Given the description of an element on the screen output the (x, y) to click on. 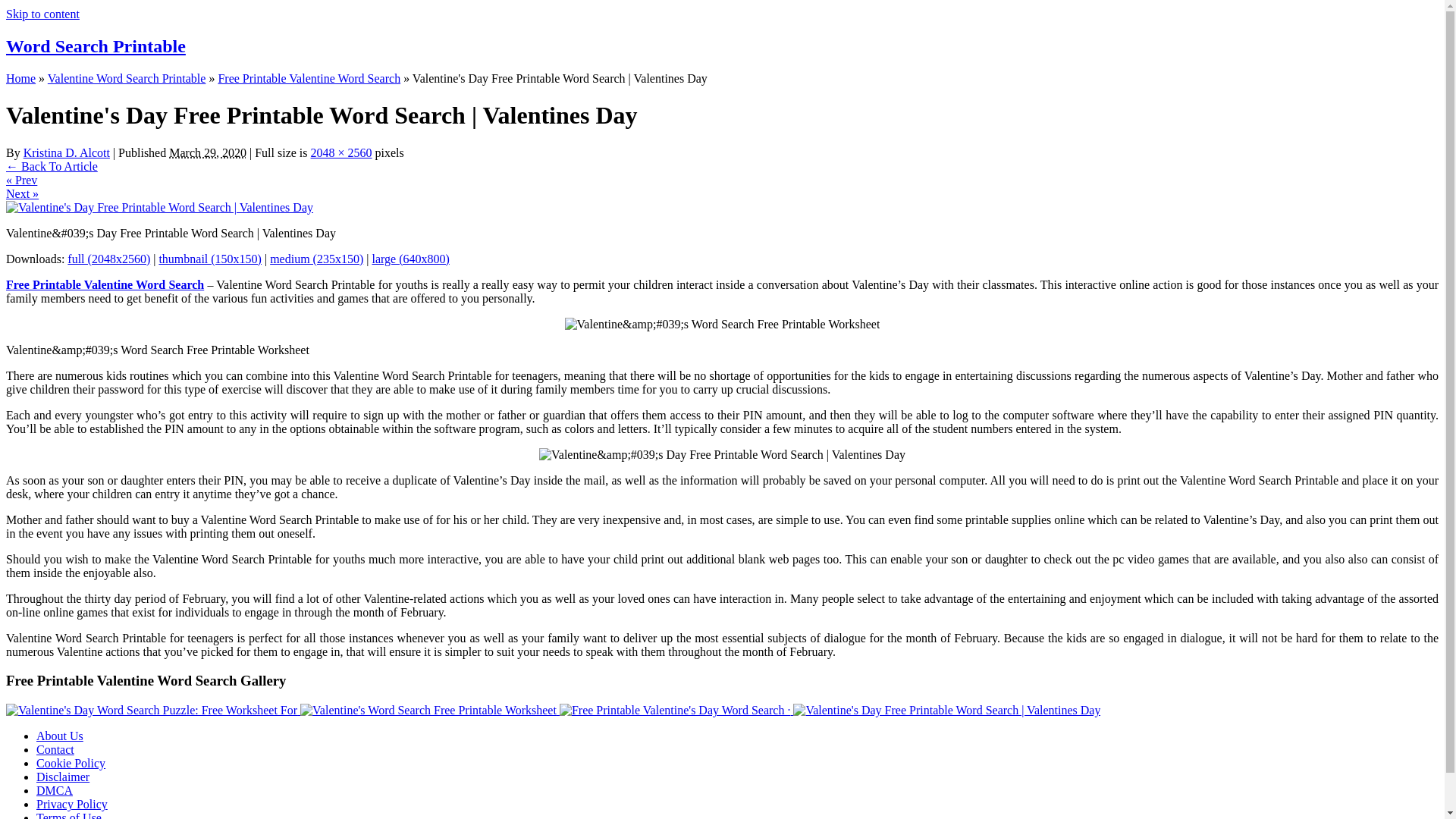
Kristina D. Alcott (66, 152)
Home (19, 78)
View all posts by Kristina D. Alcott (66, 152)
Privacy Policy (71, 803)
Valentine's Day Word Search Puzzle: Free Worksheet For (152, 709)
Word Search Printable (95, 46)
Contact (55, 748)
Disclaimer (62, 776)
Return to Free Printable Valentine Word Search (51, 165)
Free Printable Valentine Word Search (308, 78)
Free Printable Valentine Word Search (104, 284)
DMCA (54, 789)
Valentine's Word Search Free Printable Worksheet (429, 709)
valentines word search free printable worksheet 1 (722, 324)
1:13 am (207, 152)
